Given the description of an element on the screen output the (x, y) to click on. 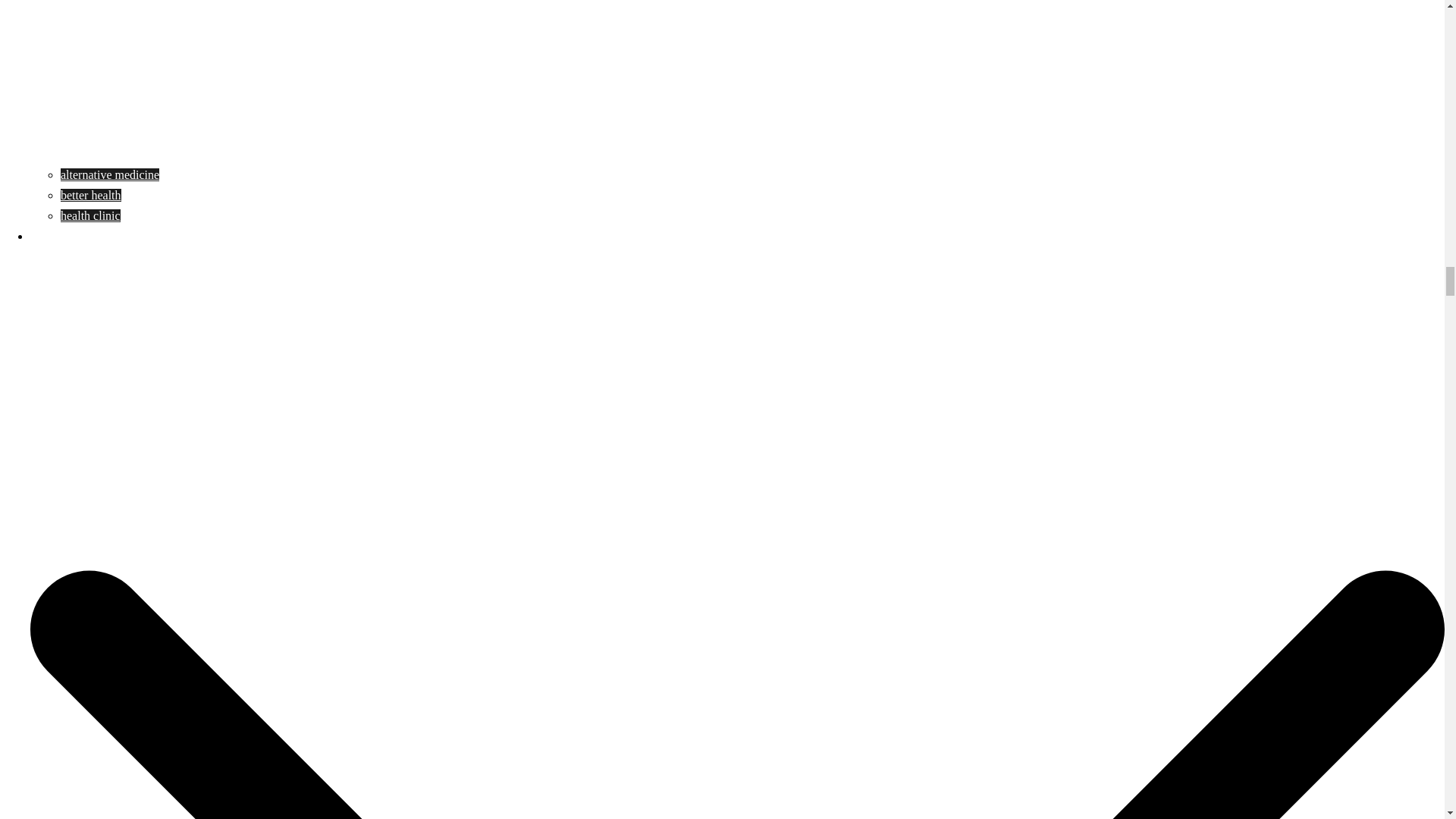
alternative medicine (109, 174)
better health (90, 195)
health clinic (90, 215)
Health Style (60, 235)
